Given the description of an element on the screen output the (x, y) to click on. 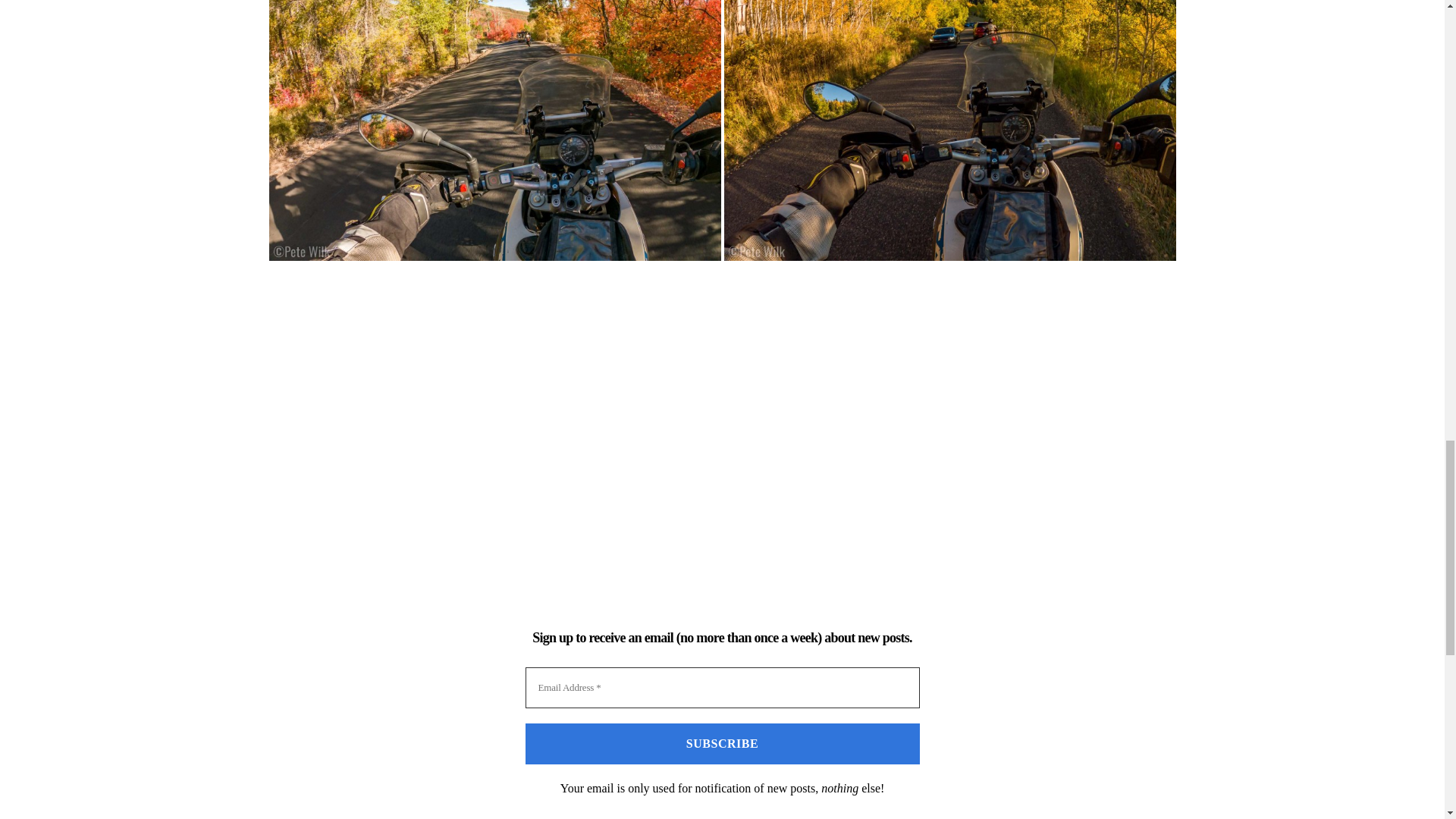
Email Address (721, 687)
Subscribe (721, 743)
